Given the description of an element on the screen output the (x, y) to click on. 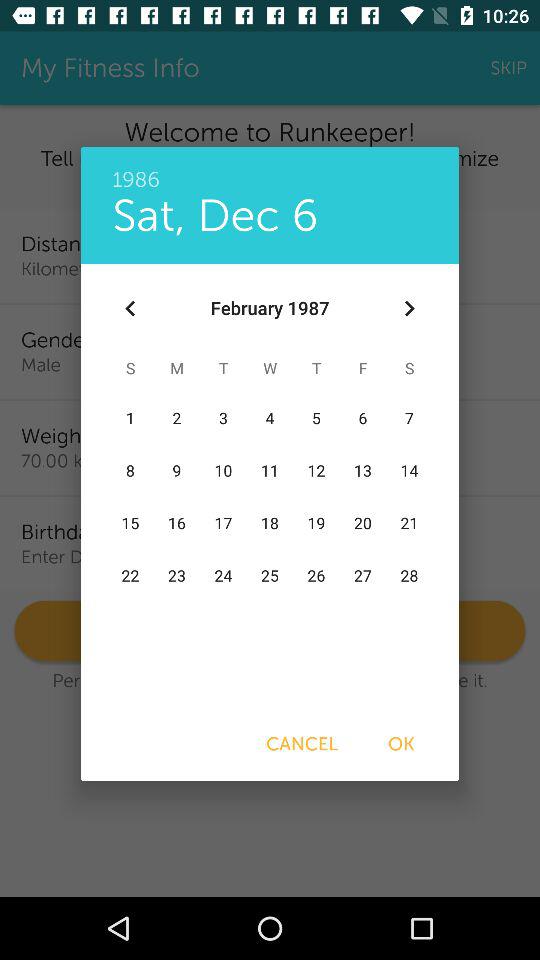
turn on the icon above sat, dec 6 icon (269, 169)
